Given the description of an element on the screen output the (x, y) to click on. 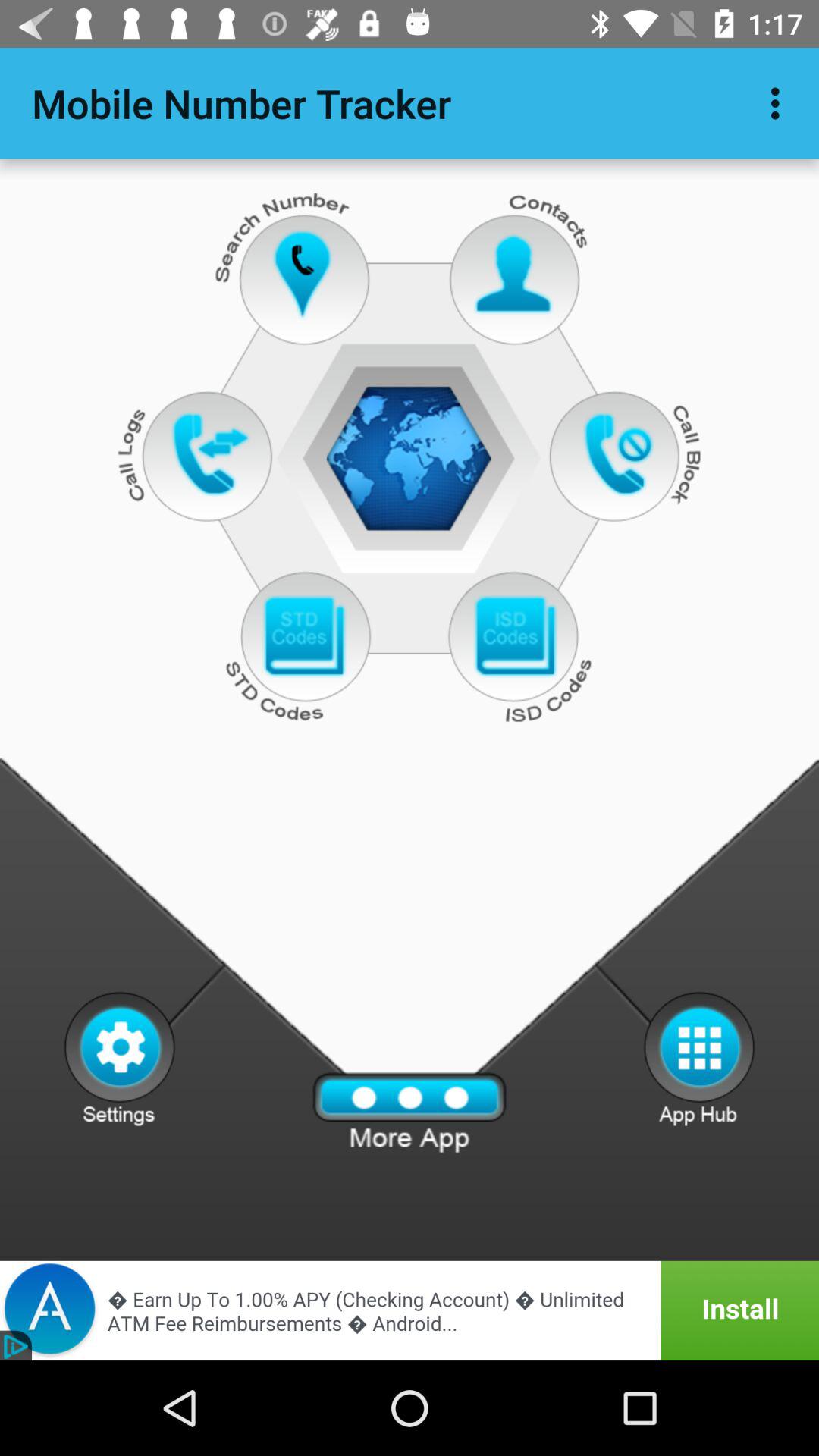
select call log (210, 453)
